Given the description of an element on the screen output the (x, y) to click on. 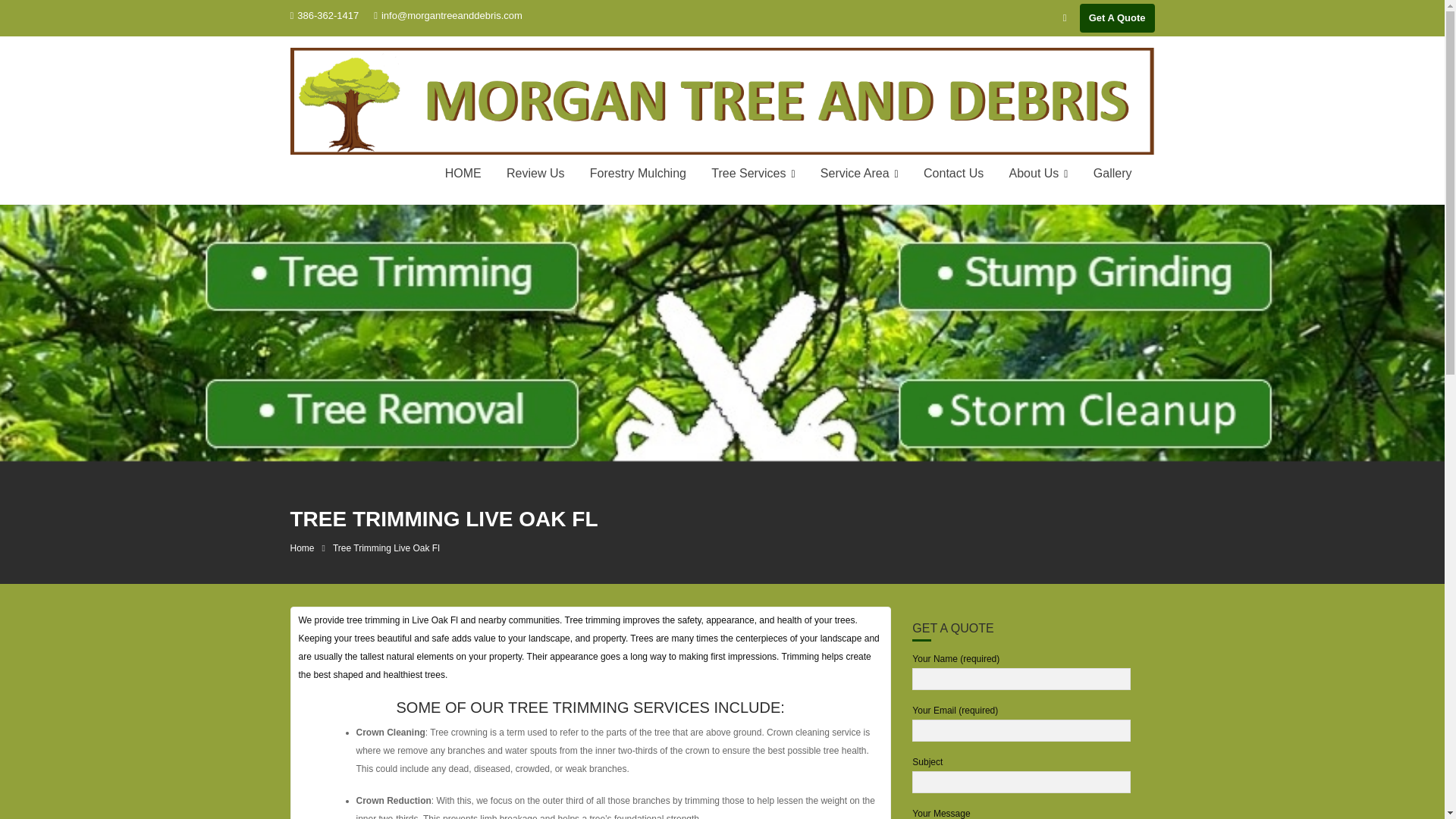
Home (301, 547)
Forestry Mulching (637, 173)
Get A Quote (1117, 18)
HOME (463, 173)
Review Us (535, 173)
Gallery (1111, 173)
Tree Services (753, 173)
Facebook (1064, 17)
Service Area (859, 173)
Contact Us (953, 173)
